Given the description of an element on the screen output the (x, y) to click on. 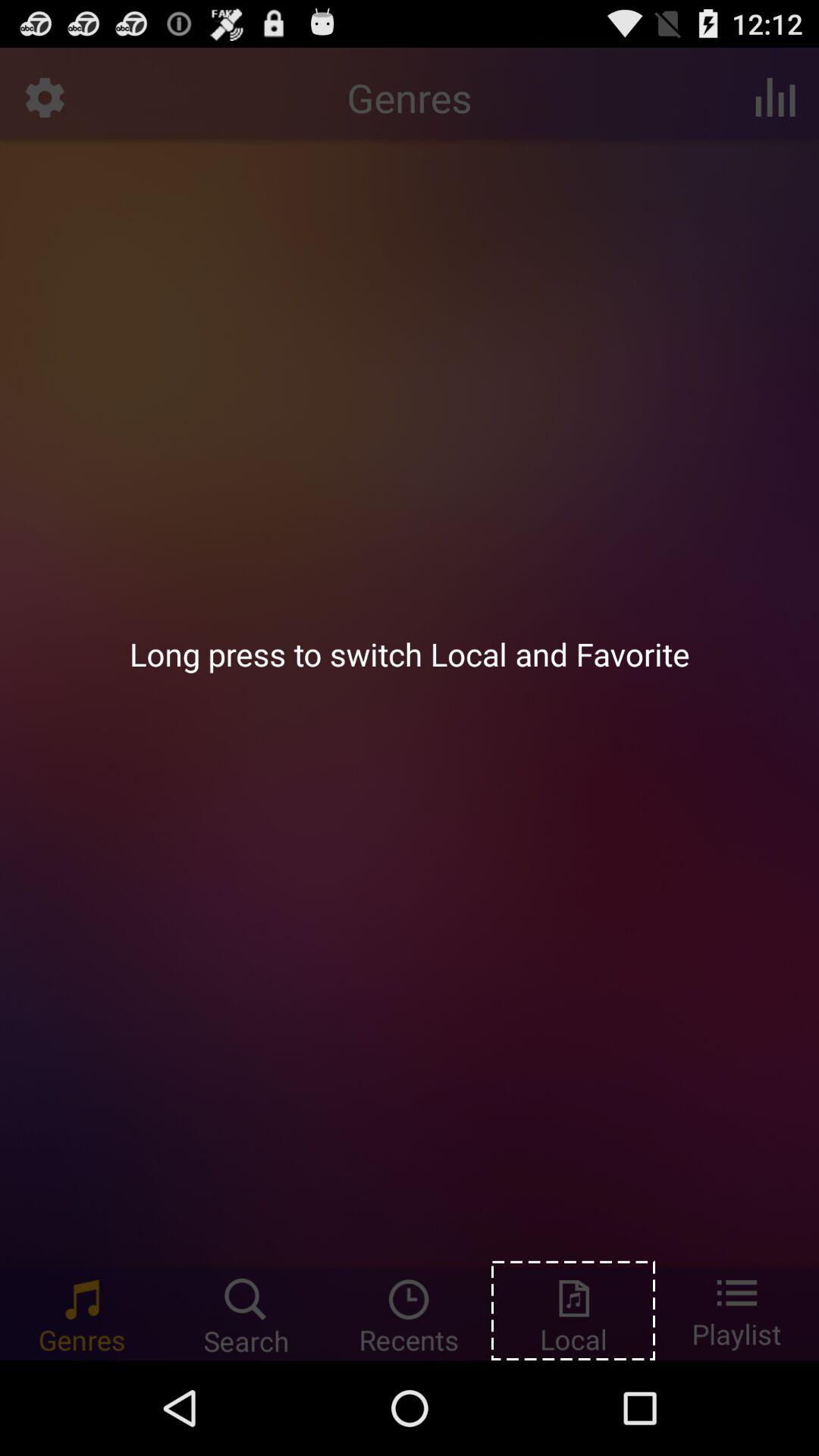
select icon above long press to icon (775, 96)
